Given the description of an element on the screen output the (x, y) to click on. 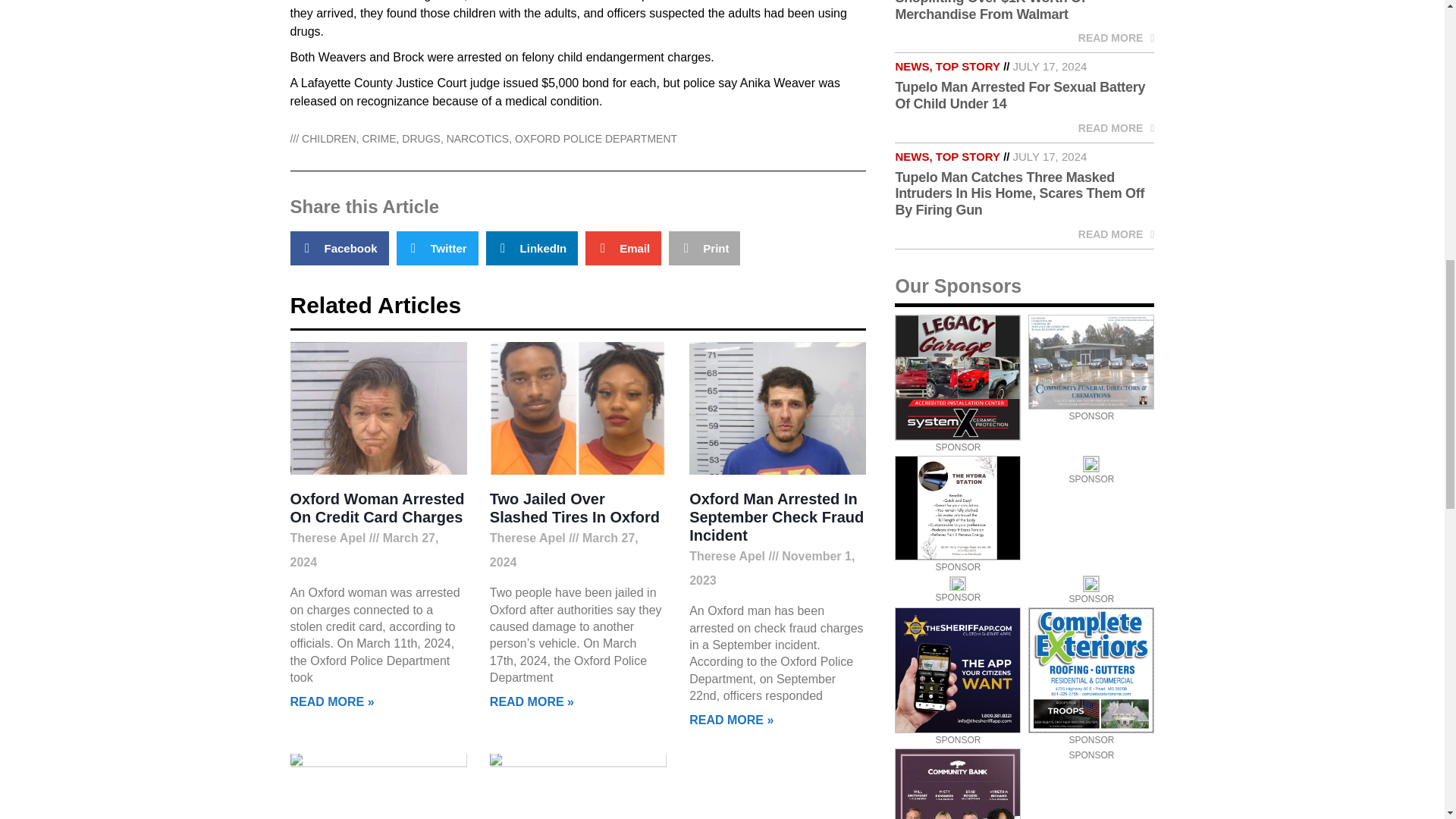
Oxford Man Arrested In September Check Fraud Incident (775, 516)
Two Jailed Over Slashed Tires In Oxford (574, 507)
NARCOTICS (477, 138)
DRUGS (421, 138)
OXFORD POLICE DEPARTMENT (596, 138)
Oxford Woman Arrested On Credit Card Charges (376, 507)
CRIME (378, 138)
CHILDREN (328, 138)
